Given the description of an element on the screen output the (x, y) to click on. 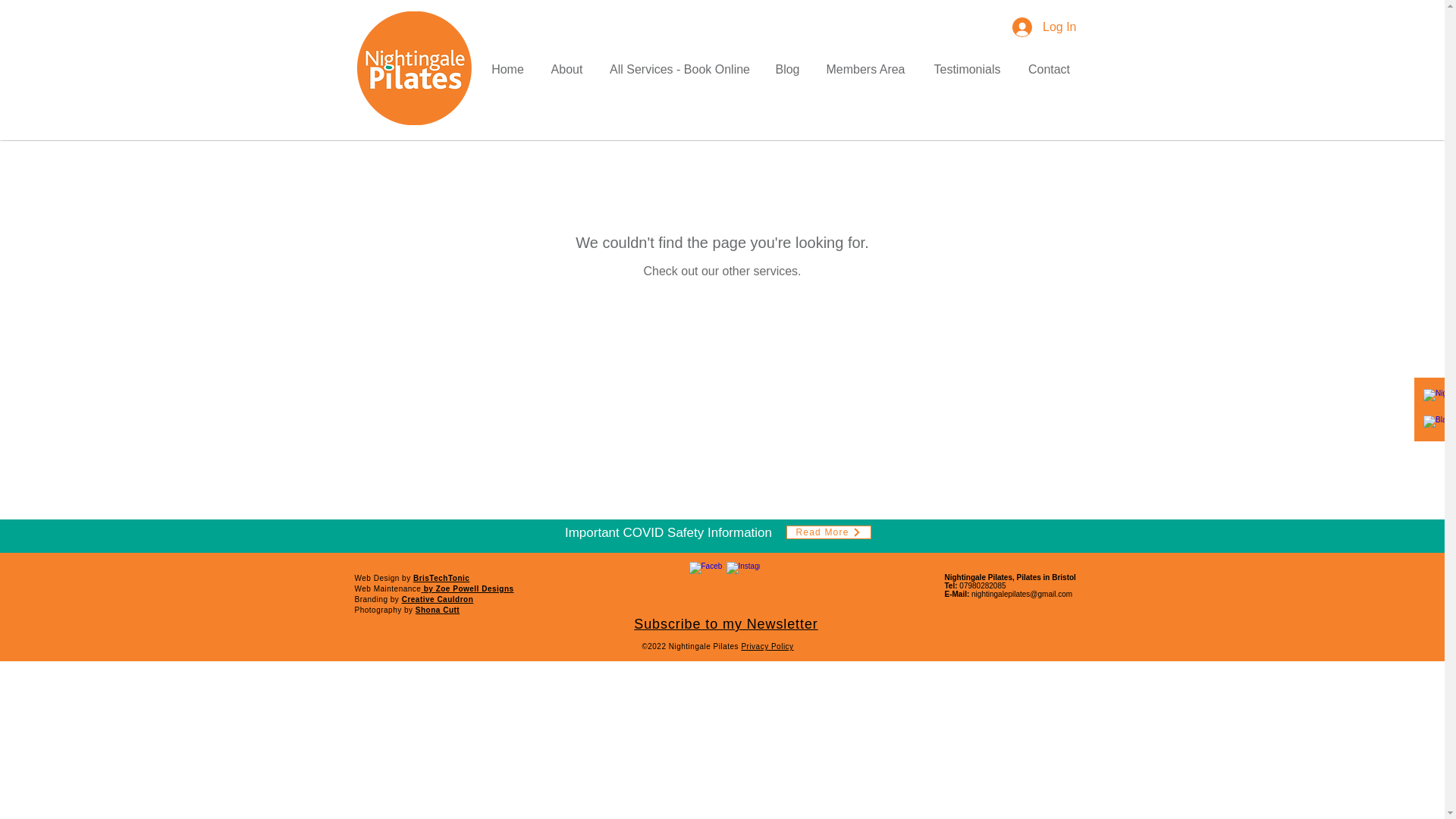
Contact (1048, 69)
Blog (786, 69)
All Services - Book Online (678, 69)
Shona Cutt (437, 610)
Testimonials (966, 69)
by Zoe Powell Designs (468, 588)
BrisTechTonic (440, 578)
Members Area (864, 69)
Log In (1043, 27)
07980282085 (982, 585)
